Given the description of an element on the screen output the (x, y) to click on. 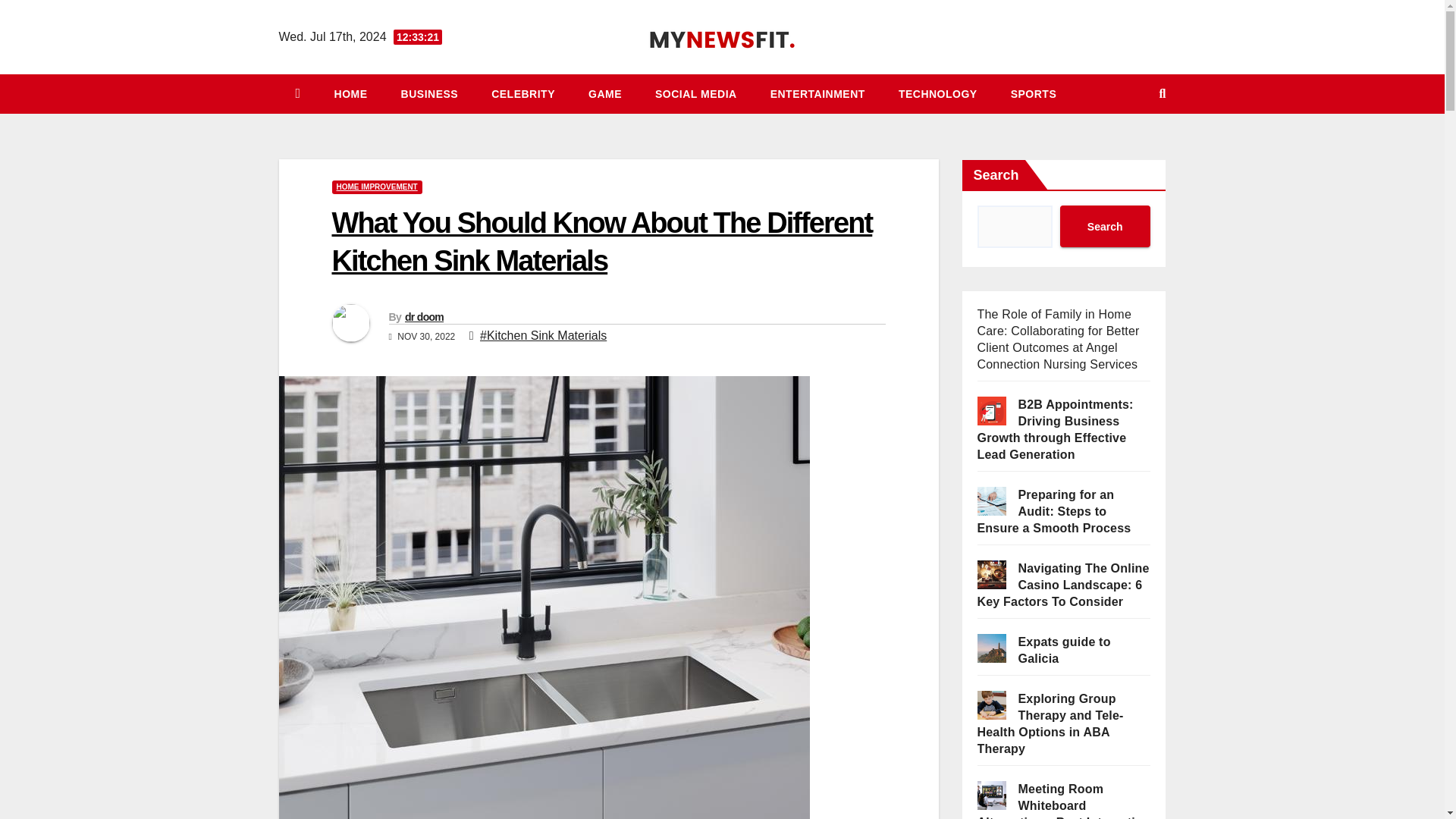
TECHNOLOGY (938, 93)
Business (430, 93)
Social Media (696, 93)
Game (605, 93)
ENTERTAINMENT (818, 93)
GAME (605, 93)
dr doom (424, 316)
CELEBRITY (523, 93)
SOCIAL MEDIA (696, 93)
Technology (938, 93)
Entertainment (818, 93)
HOME IMPROVEMENT (376, 187)
Sports (1034, 93)
